Given the description of an element on the screen output the (x, y) to click on. 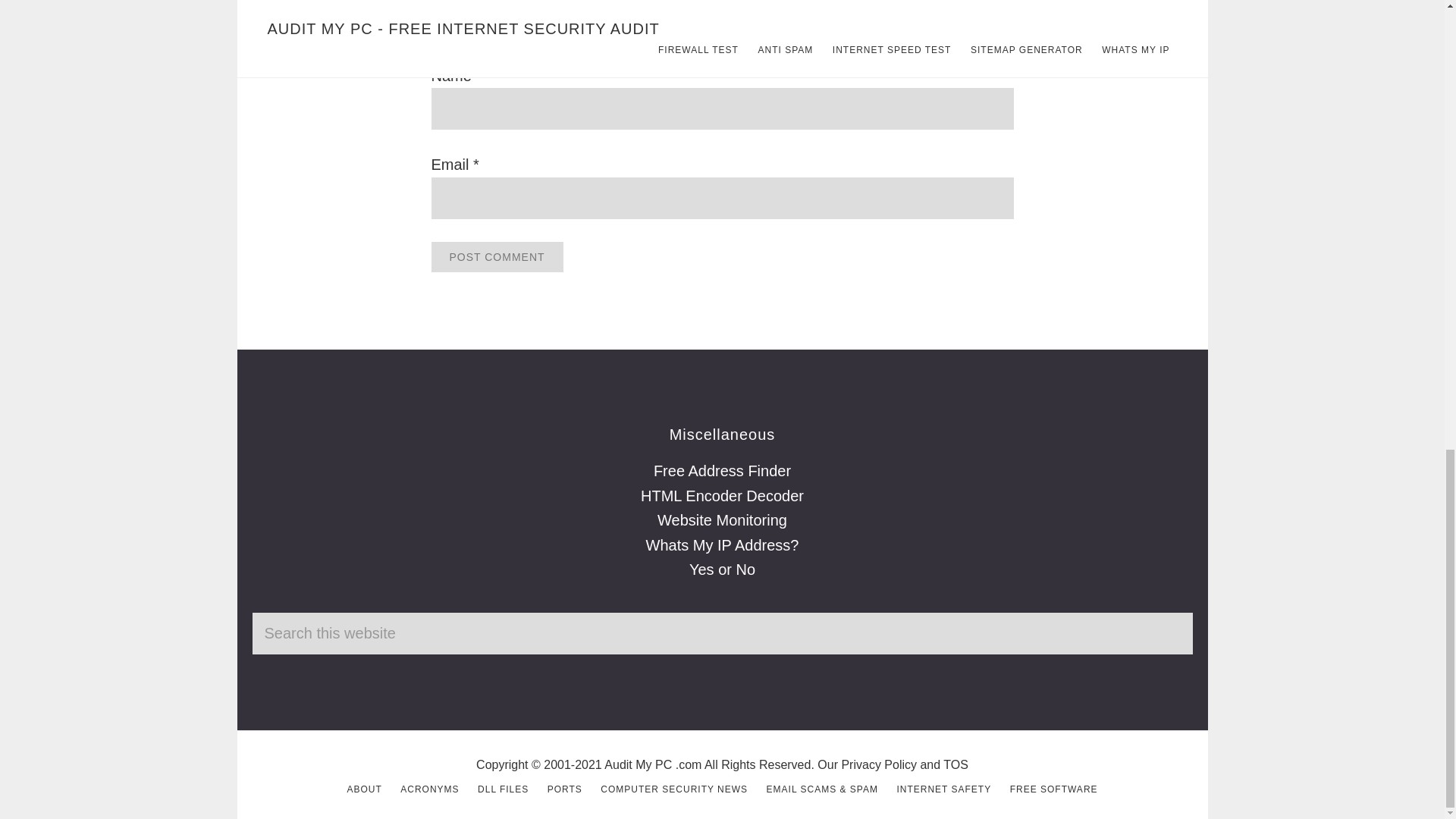
HTML Encoder Decoder (721, 495)
TOS (955, 764)
Privacy Policy (879, 764)
INTERNET SAFETY (943, 788)
Post Comment (496, 256)
Audit My PC (637, 764)
COMPUTER SECURITY NEWS (673, 788)
Post Comment (496, 256)
ABOUT (363, 788)
AuditMyPC.com Privacy Statement (879, 764)
AuditMyPC.com Terms of Service (955, 764)
Website Monitoring (722, 519)
FREE SOFTWARE (1053, 788)
DLL FILES (502, 788)
